Given the description of an element on the screen output the (x, y) to click on. 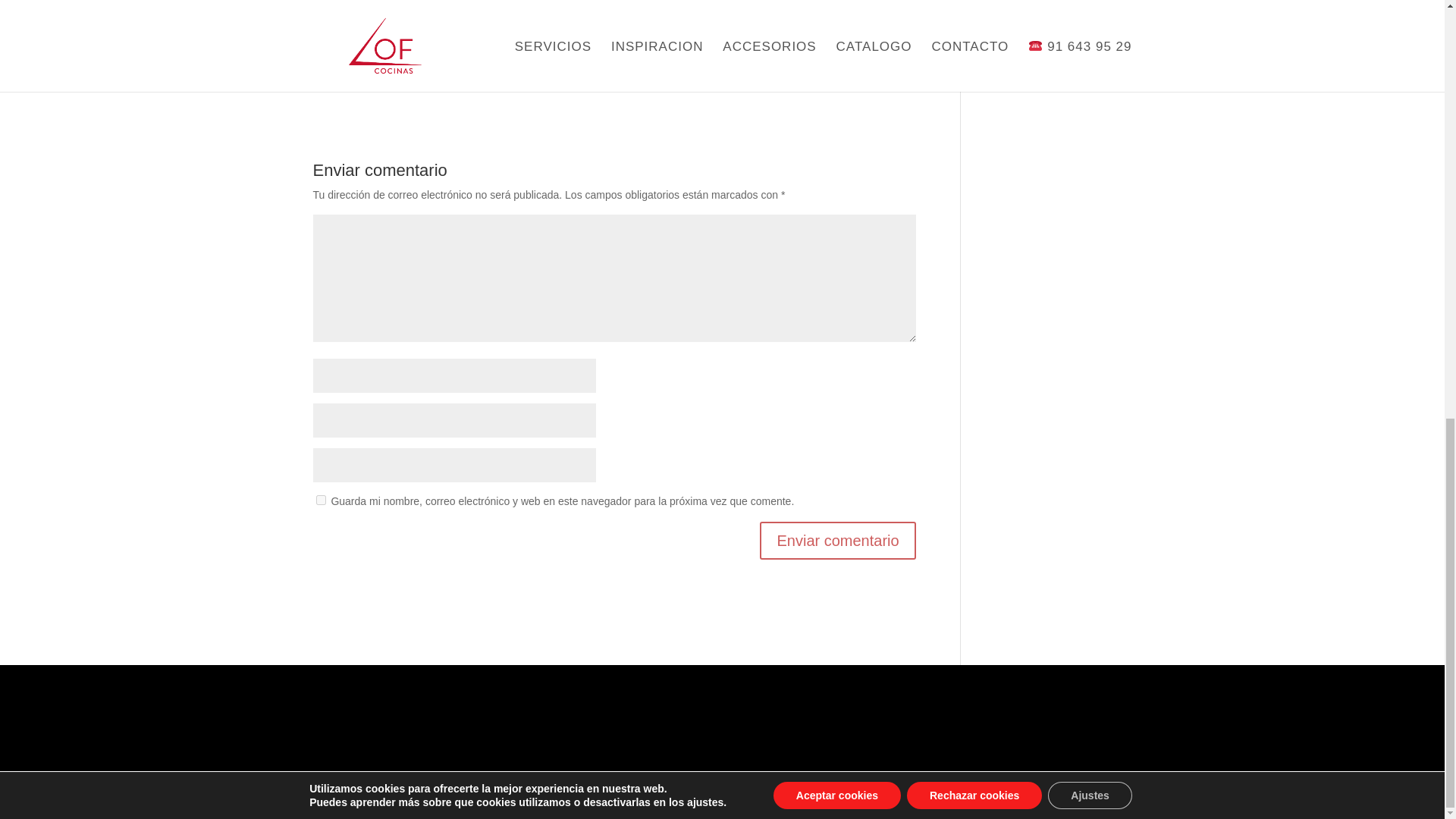
Enviar comentario (837, 540)
yes (319, 500)
Enviar comentario (837, 540)
